Given the description of an element on the screen output the (x, y) to click on. 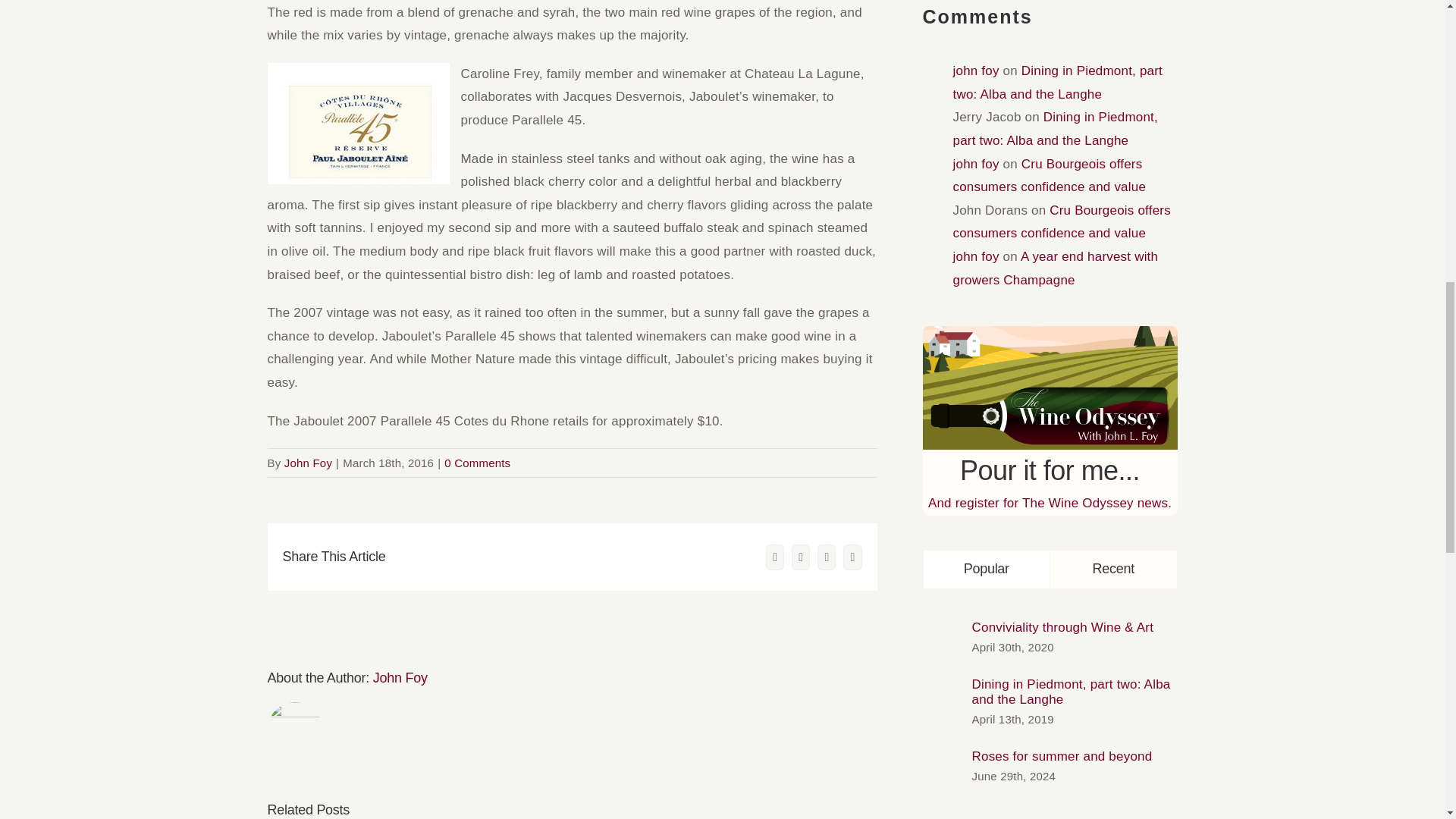
0 Comments (477, 462)
John Foy (307, 462)
John Foy (400, 677)
Posts by John Foy (307, 462)
Posts by John Foy (400, 677)
